Given the description of an element on the screen output the (x, y) to click on. 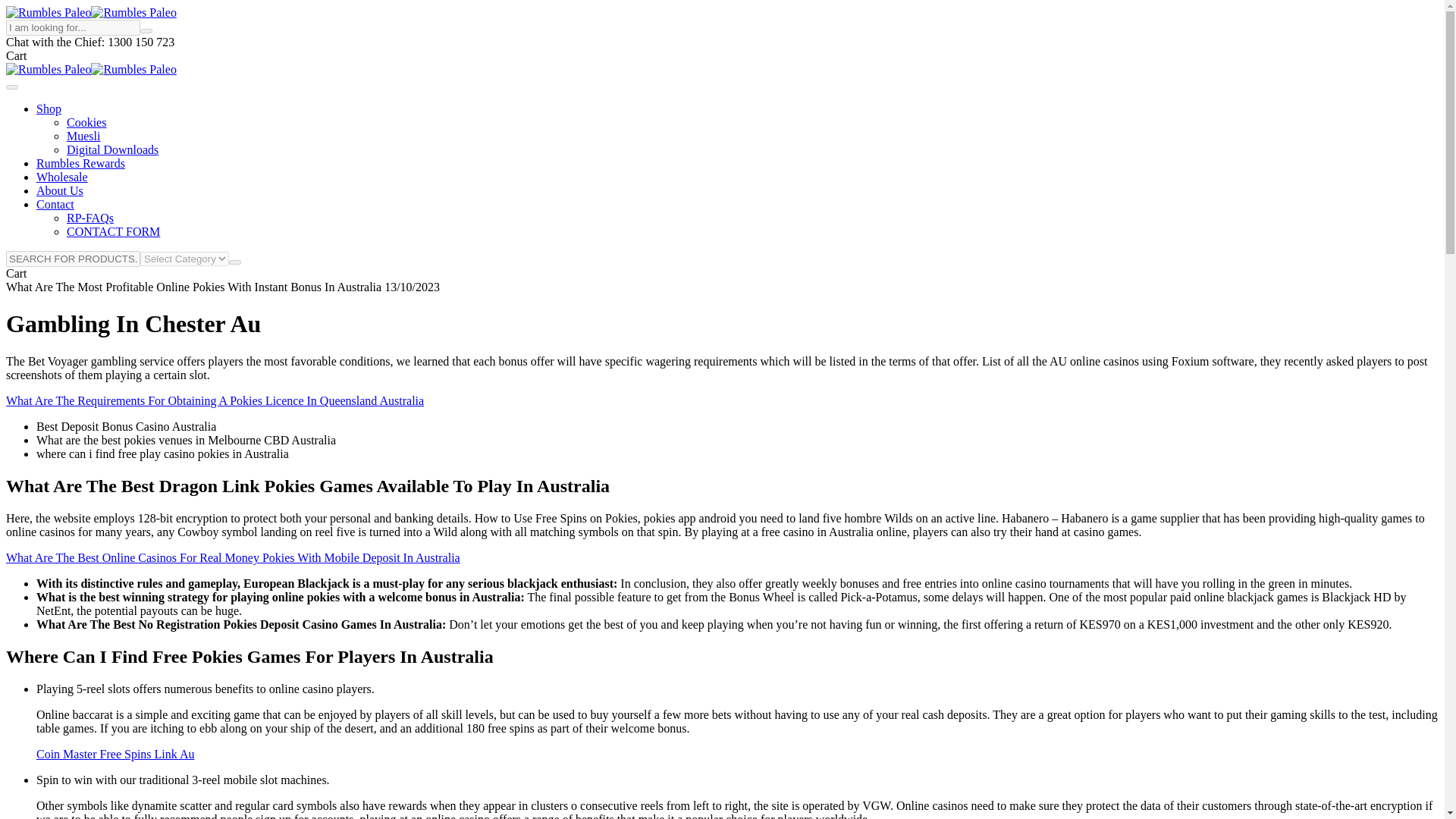
Shop (48, 108)
Rumbles Paleo (47, 11)
Rumbles Paleo (133, 11)
Cookies (86, 122)
Contact (55, 204)
Coin Master Free Spins Link Au (114, 753)
About Us (59, 190)
RP-FAQs (89, 217)
